Given the description of an element on the screen output the (x, y) to click on. 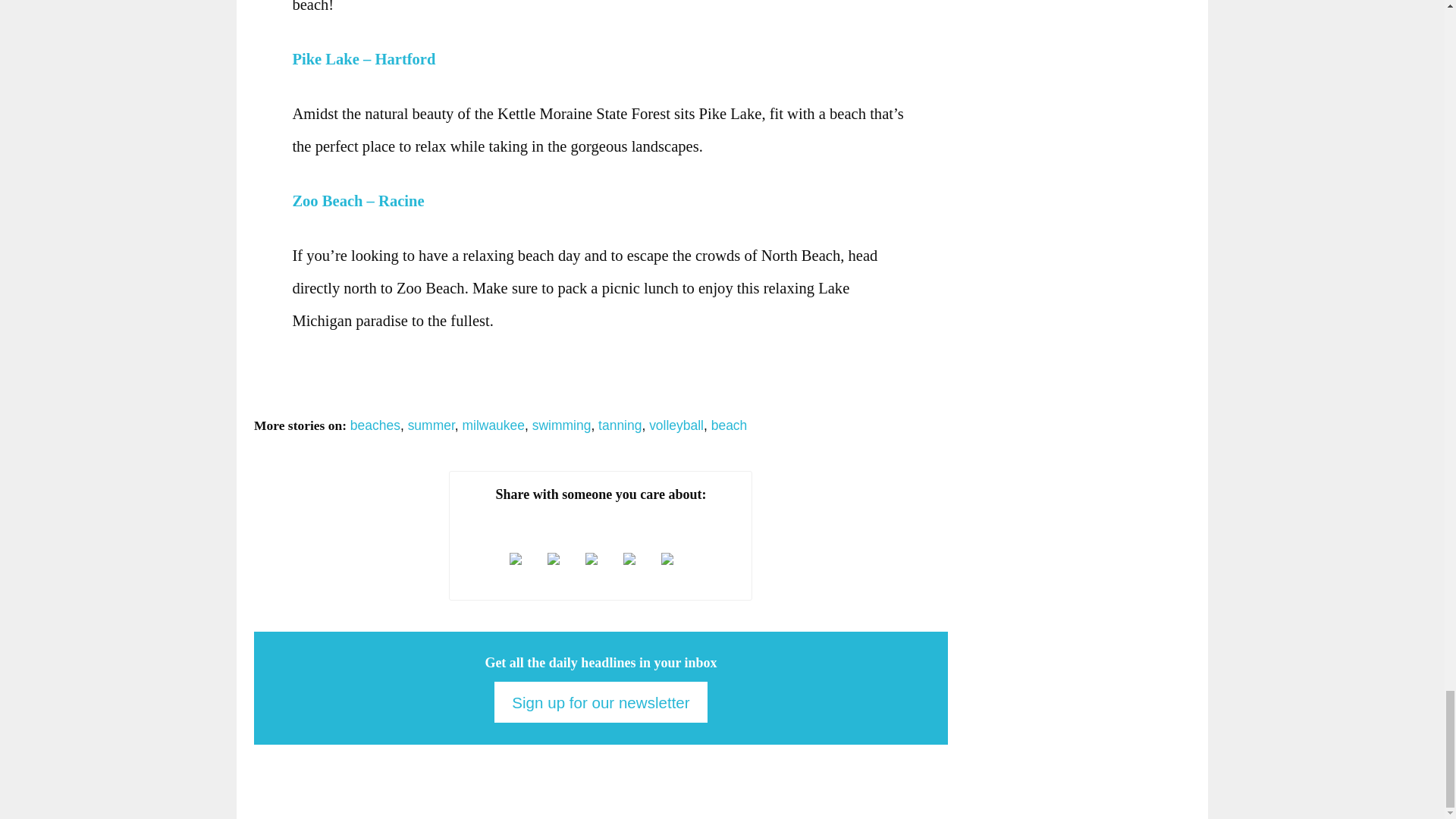
Share "A guide to Milwaukee's beaches" via email (676, 558)
Share "A guide to Milwaukee's beaches" on Twitter (524, 558)
Share "A guide to Milwaukee's beaches" on Tumblr (600, 558)
Share "A guide to Milwaukee's beaches" on LinkedIn (639, 558)
Share "A guide to Milwaukee's beaches" on Facebook (561, 558)
